Given the description of an element on the screen output the (x, y) to click on. 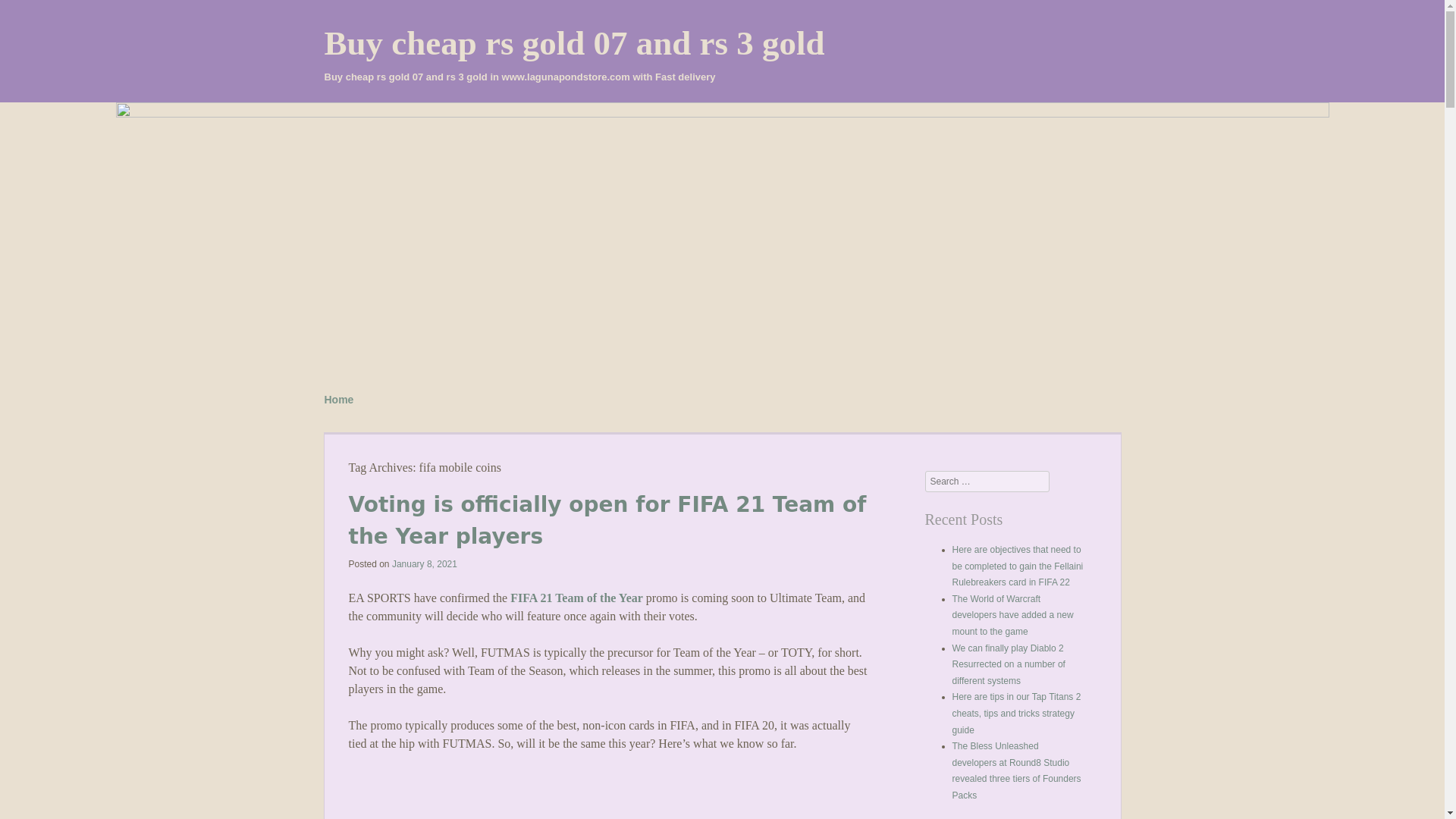
9:21 am (424, 563)
FIFA 21 Team of the Year (577, 597)
Buy cheap rs gold 07 and rs 3 gold (574, 43)
Skip to content (362, 393)
Home (338, 399)
Search (33, 17)
Buy cheap rs gold 07 and rs 3 gold (574, 43)
Skip to content (362, 393)
